Given the description of an element on the screen output the (x, y) to click on. 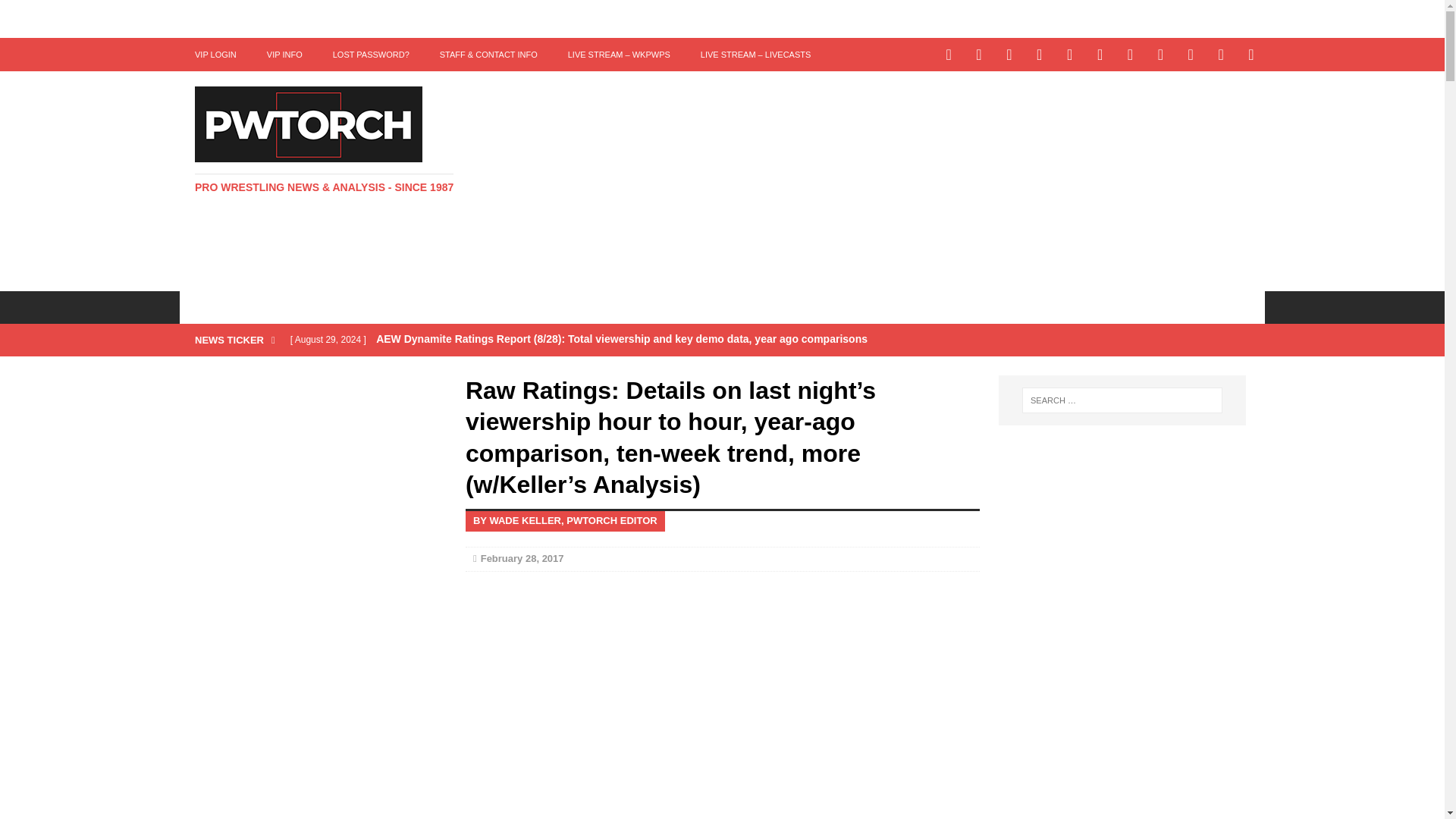
LOST PASSWORD? (371, 54)
VIP INFO (284, 54)
VIP LOGIN (215, 54)
HOME (210, 306)
NEWS (272, 306)
